Given the description of an element on the screen output the (x, y) to click on. 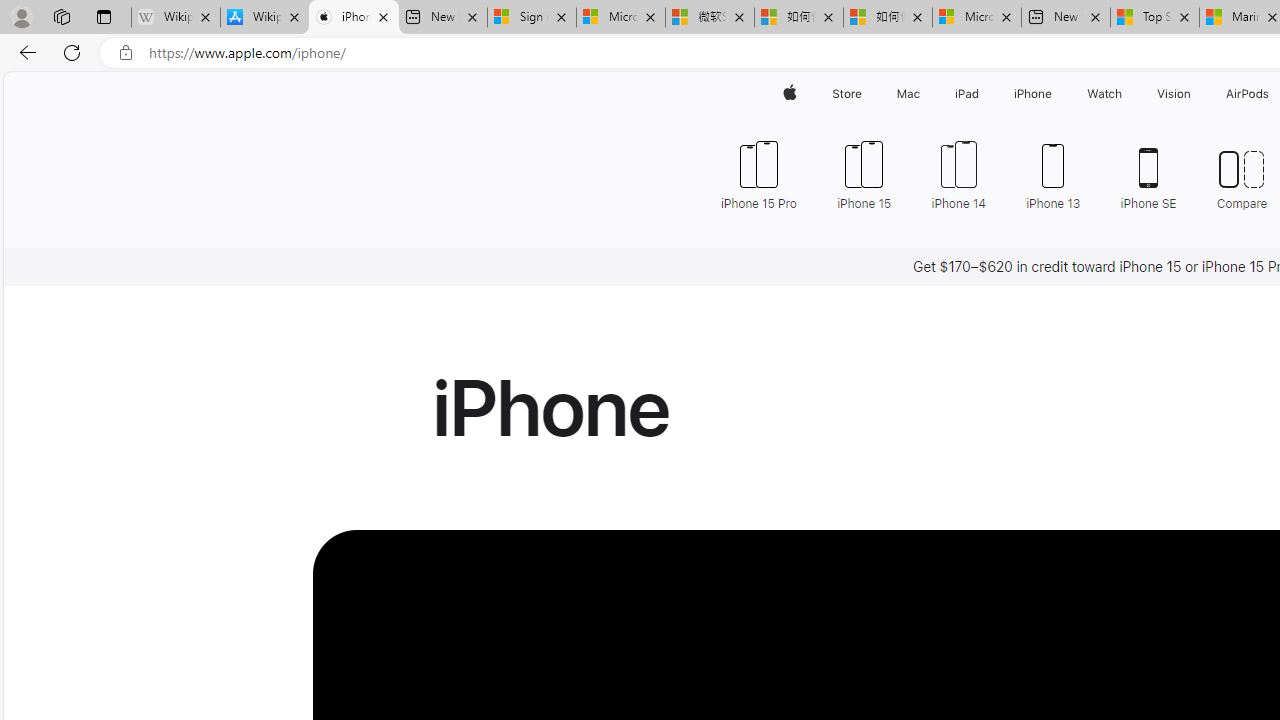
Store (846, 93)
Mac (908, 93)
Top Stories - MSN (1155, 17)
iPhone 13 (1053, 173)
Store (846, 93)
iPhone 15 Pro (765, 173)
Microsoft account | Account Checkup (977, 17)
iPhone 13 (1053, 173)
iPad (965, 93)
iPhone (1033, 93)
iPhone 15 (863, 173)
Vision (1174, 93)
iPhone menu (1055, 93)
Mac menu (922, 93)
